Given the description of an element on the screen output the (x, y) to click on. 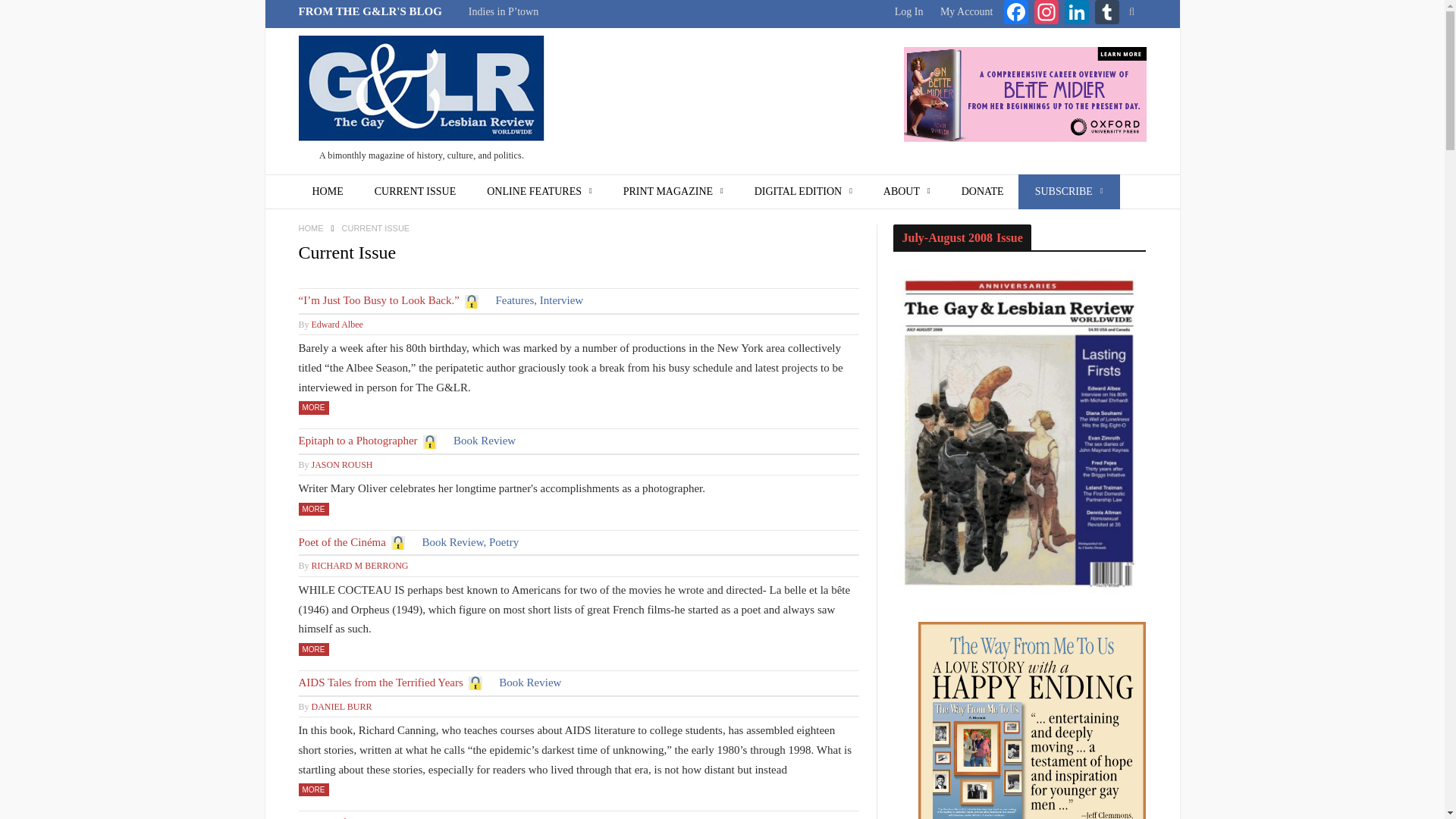
ONLINE FEATURES (539, 191)
A bimonthly magazine of history, culture, and politics. (421, 101)
Log In (909, 11)
Instagram (1045, 13)
DIGITAL EDITION (803, 191)
Facebook (1015, 13)
LinkedIn (1076, 13)
ABOUT (906, 191)
PRINT MAGAZINE (673, 191)
Tumblr (1107, 13)
Facebook (1015, 13)
My Account (966, 11)
LinkedIn (1076, 13)
CURRENT ISSUE (414, 191)
Instagram (1045, 13)
